Given the description of an element on the screen output the (x, y) to click on. 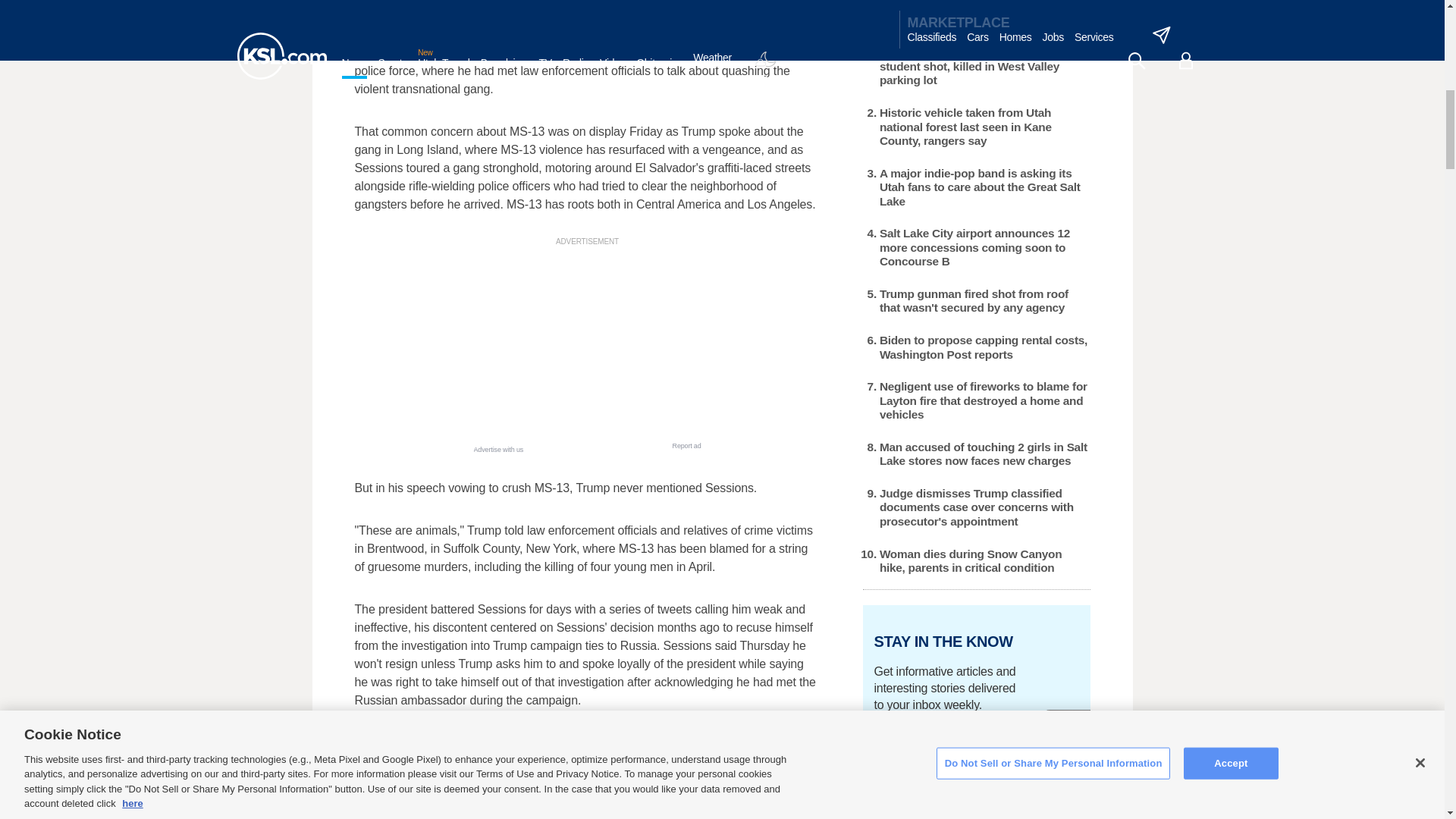
3rd party ad content (586, 344)
